Given the description of an element on the screen output the (x, y) to click on. 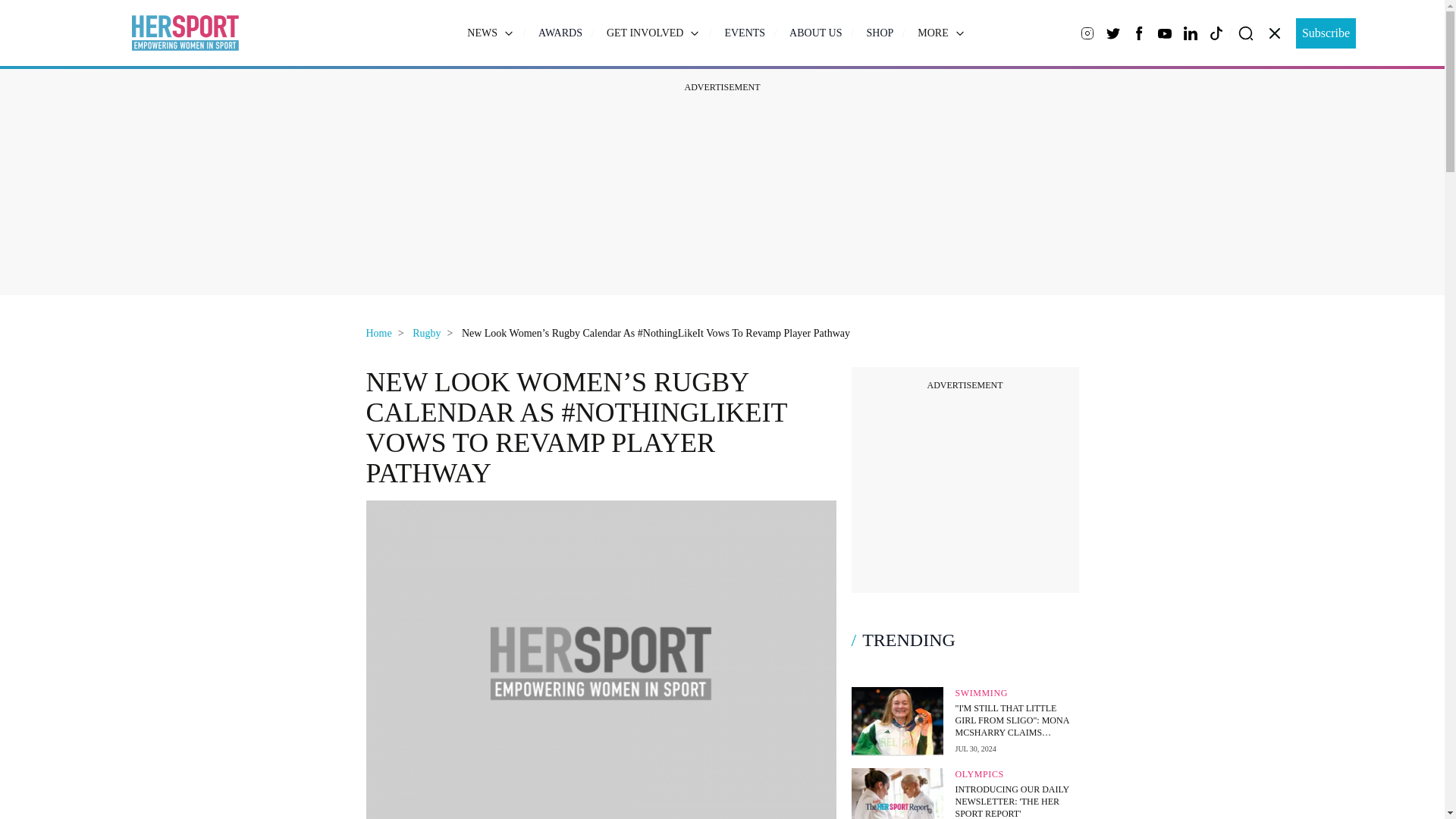
AWARDS (560, 32)
ABOUT US (815, 32)
NEWS (490, 32)
GET INVOLVED (653, 32)
MORE (940, 32)
Close (1274, 33)
EVENTS (744, 32)
Subscribe (1325, 33)
SHOP (879, 32)
